Given the description of an element on the screen output the (x, y) to click on. 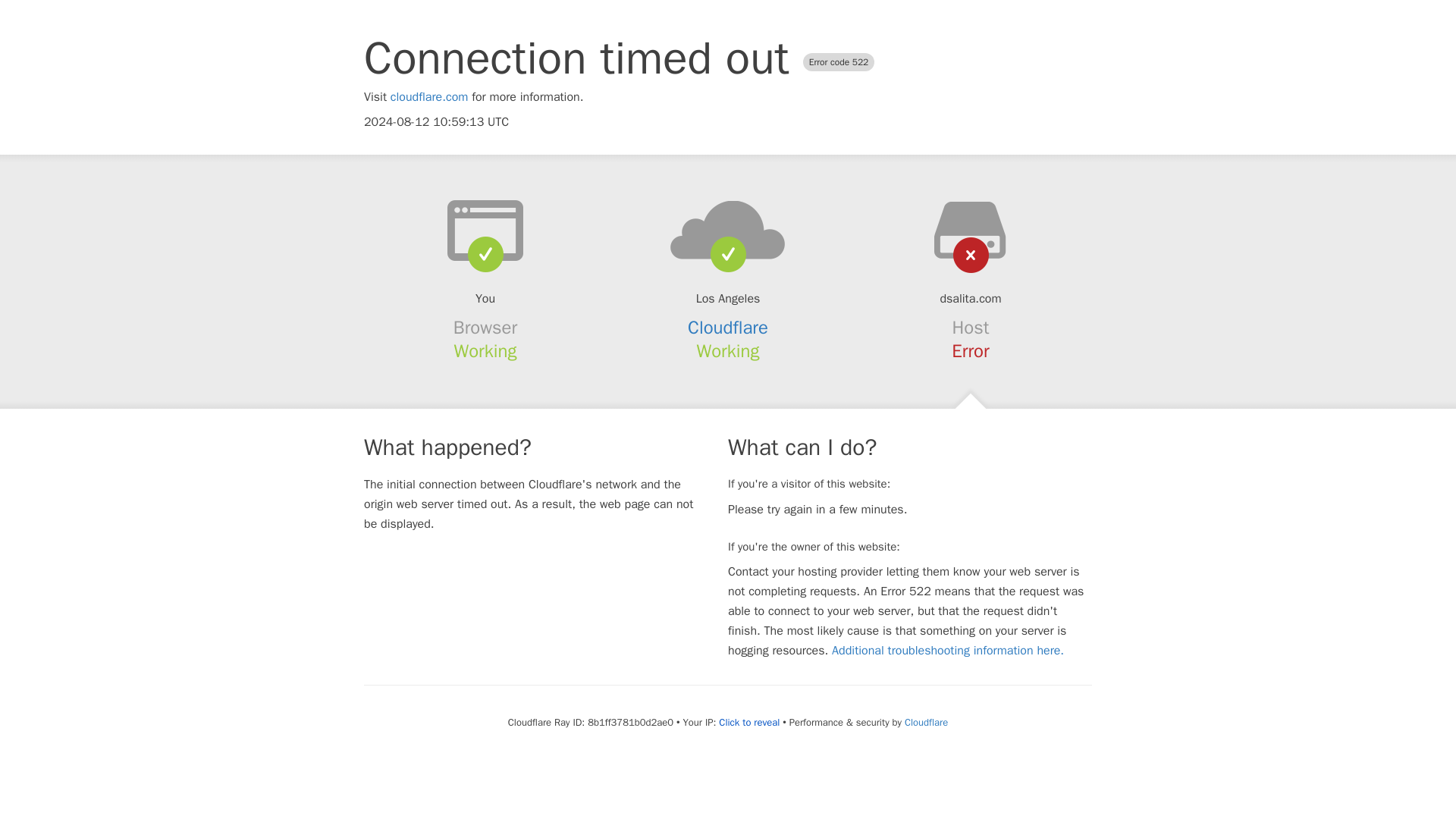
Cloudflare (925, 721)
cloudflare.com (429, 96)
Click to reveal (748, 722)
Cloudflare (727, 327)
Additional troubleshooting information here. (947, 650)
